Given the description of an element on the screen output the (x, y) to click on. 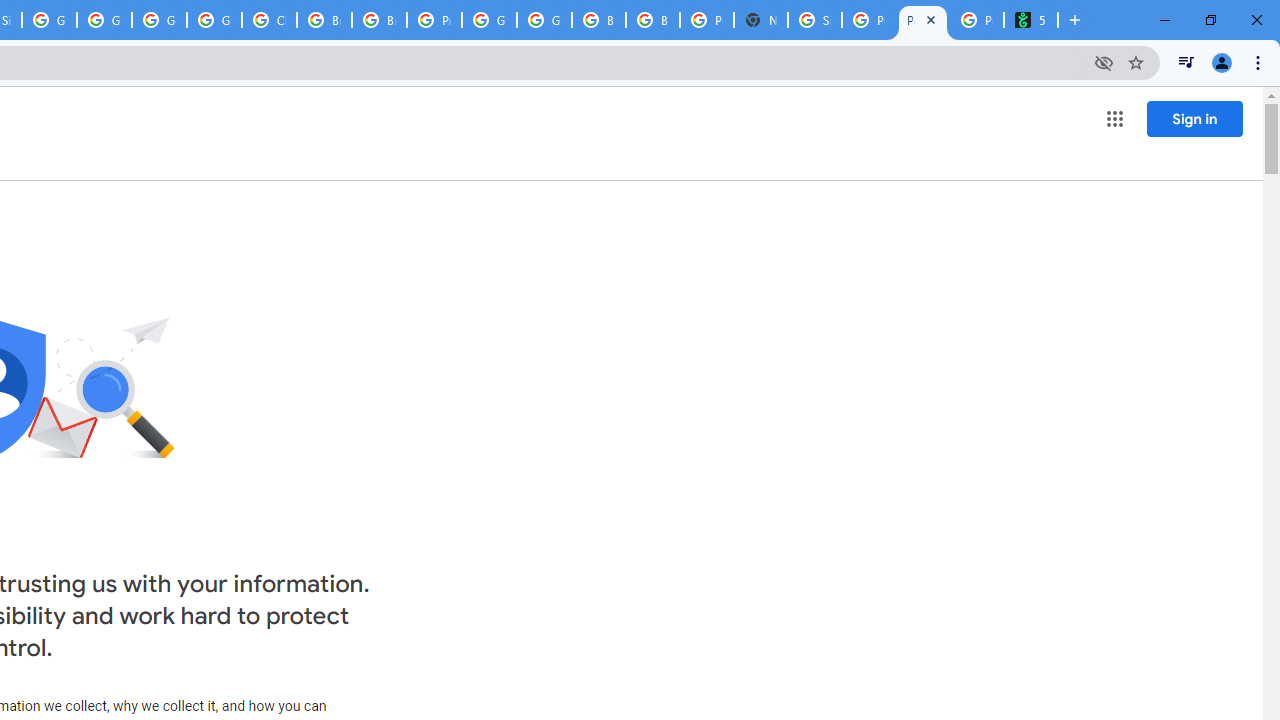
Browse Chrome as a guest - Computer - Google Chrome Help (598, 20)
